Given the description of an element on the screen output the (x, y) to click on. 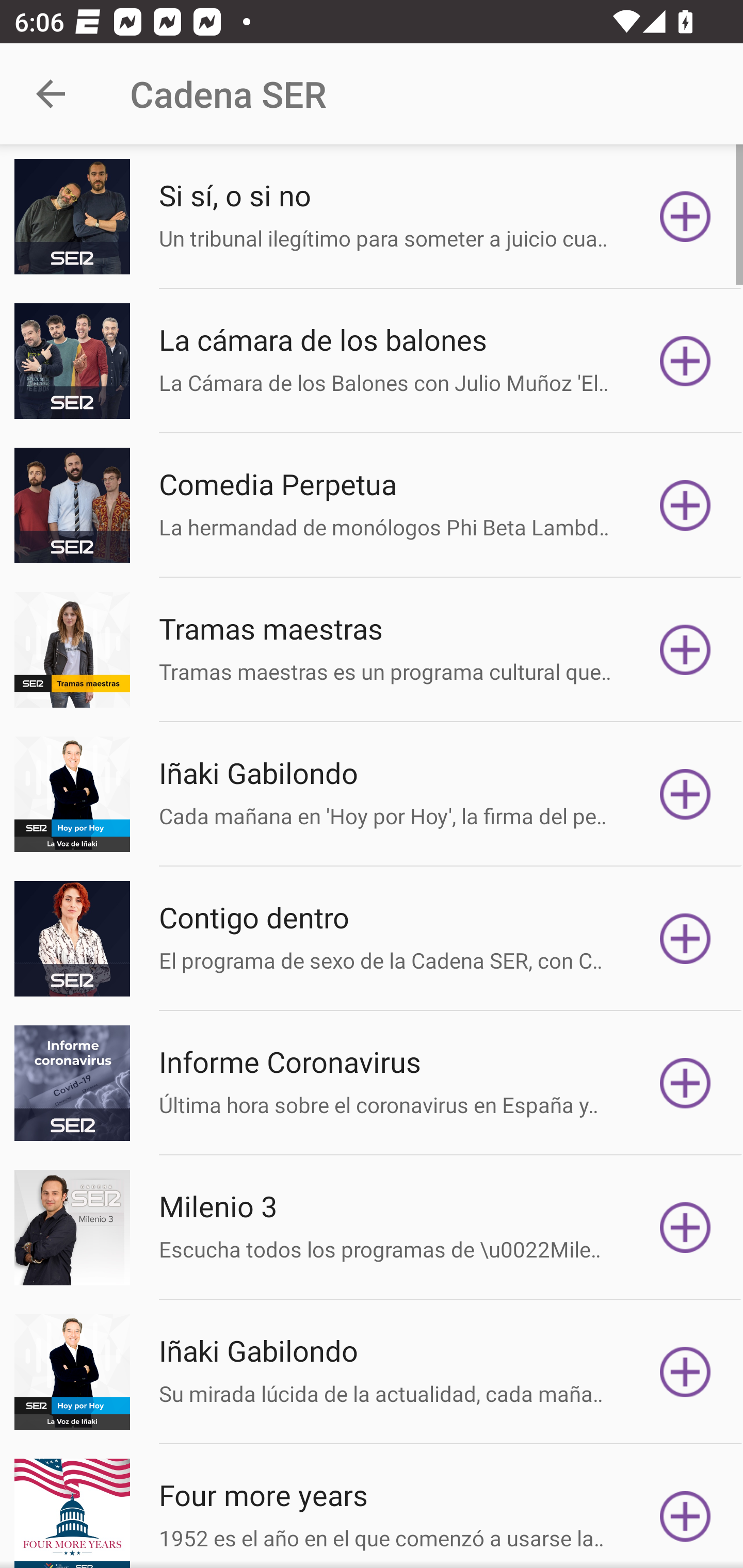
Navigate up (50, 93)
Subscribe (685, 216)
Subscribe (685, 360)
Subscribe (685, 505)
Subscribe (685, 649)
Subscribe (685, 793)
Subscribe (685, 939)
Subscribe (685, 1083)
Subscribe (685, 1227)
Subscribe (685, 1371)
Subscribe (685, 1513)
